Given the description of an element on the screen output the (x, y) to click on. 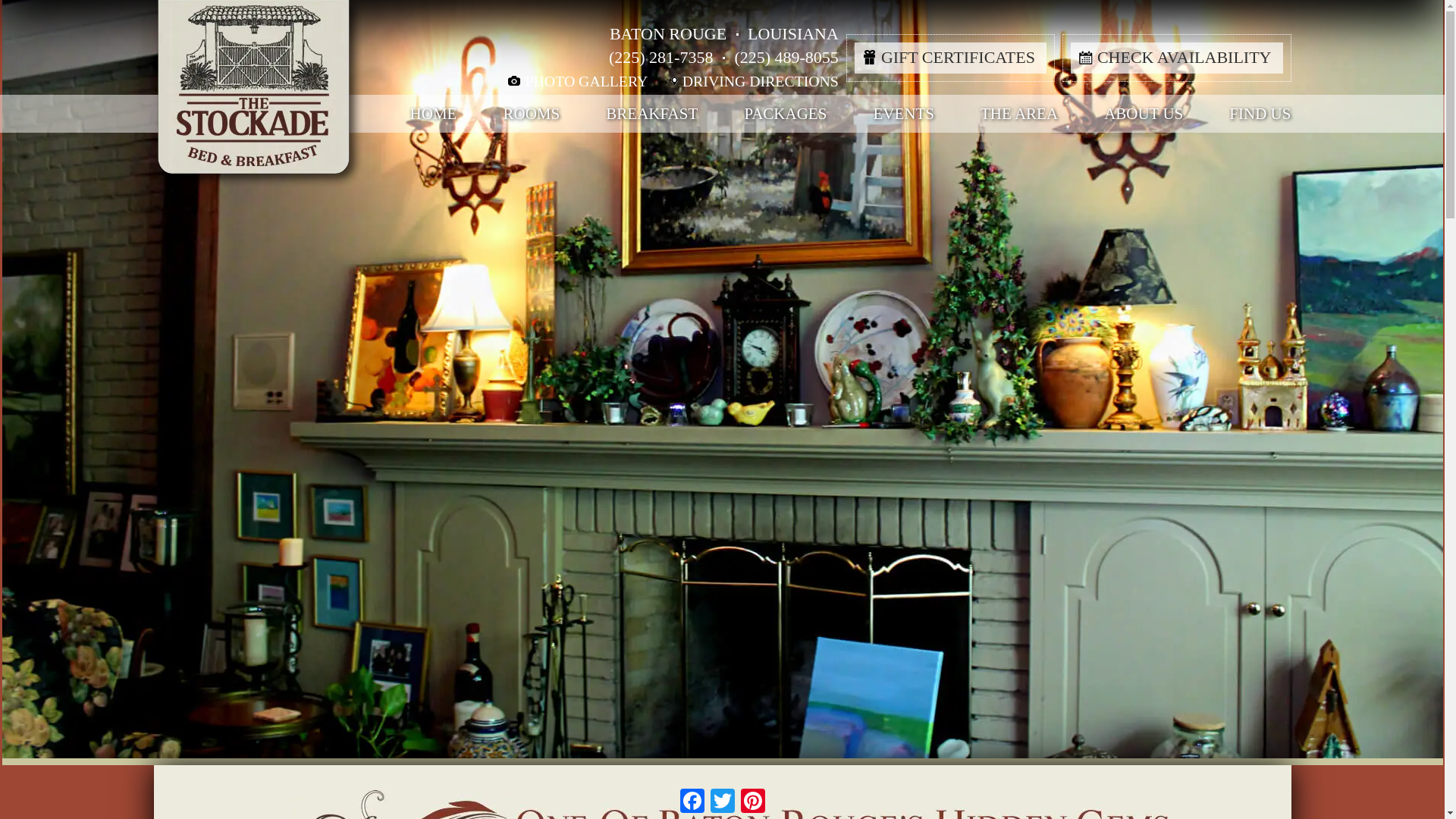
DRIVING DIRECTIONS (745, 81)
GIFT CERTIFICATES (950, 57)
Call for Assistance (785, 56)
CHECK AVAILABILITY (1176, 57)
EVENTS (903, 113)
BREAKFAST (651, 113)
Call for Assistance (660, 56)
PHOTO GALLERY (574, 81)
LOGO (257, 104)
ROOMS (531, 113)
PACKAGES (785, 113)
